Given the description of an element on the screen output the (x, y) to click on. 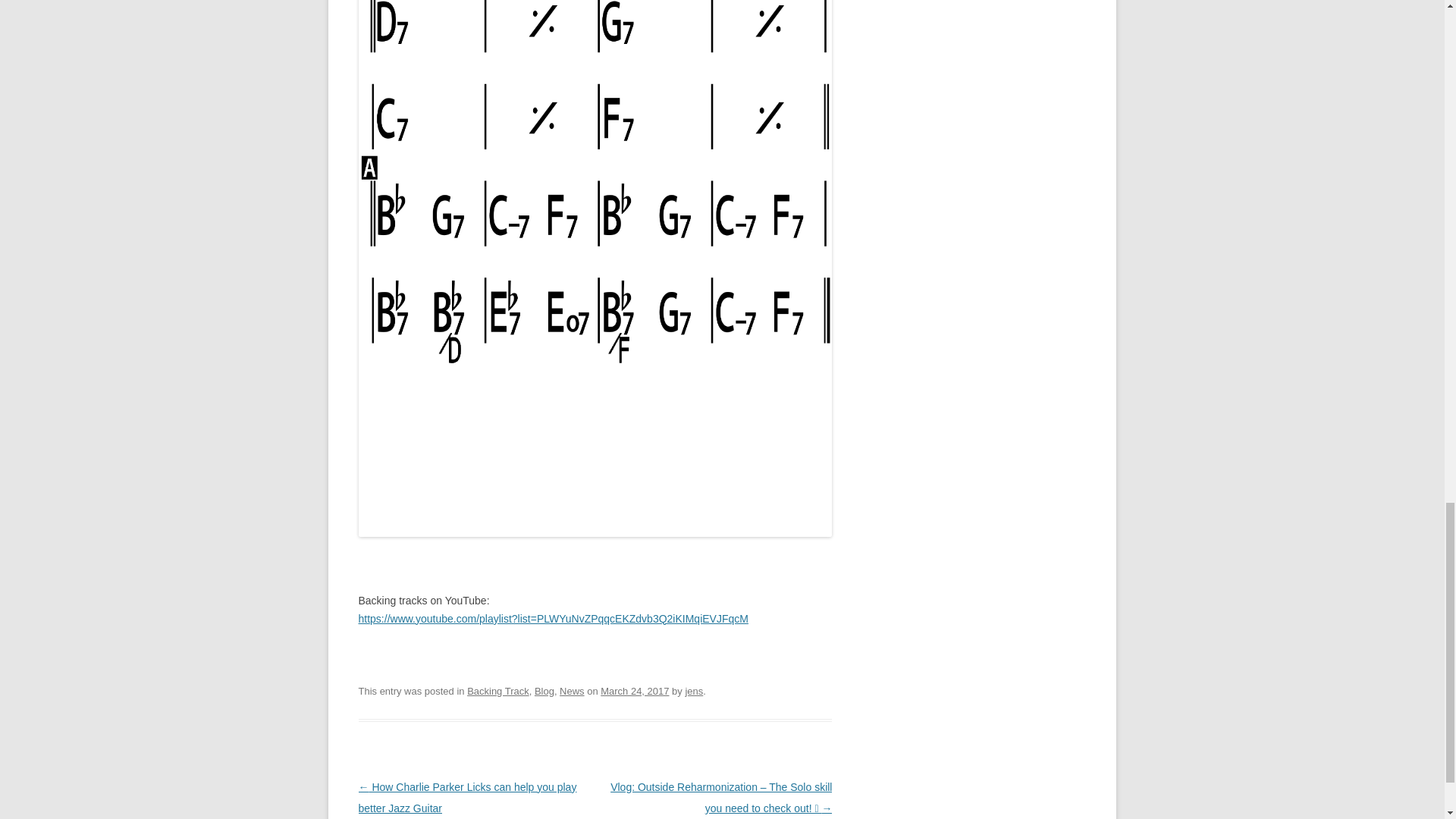
jens (693, 690)
News (571, 690)
View all posts by jens (693, 690)
20:38 (633, 690)
Backing Track (498, 690)
March 24, 2017 (633, 690)
Blog (544, 690)
